Given the description of an element on the screen output the (x, y) to click on. 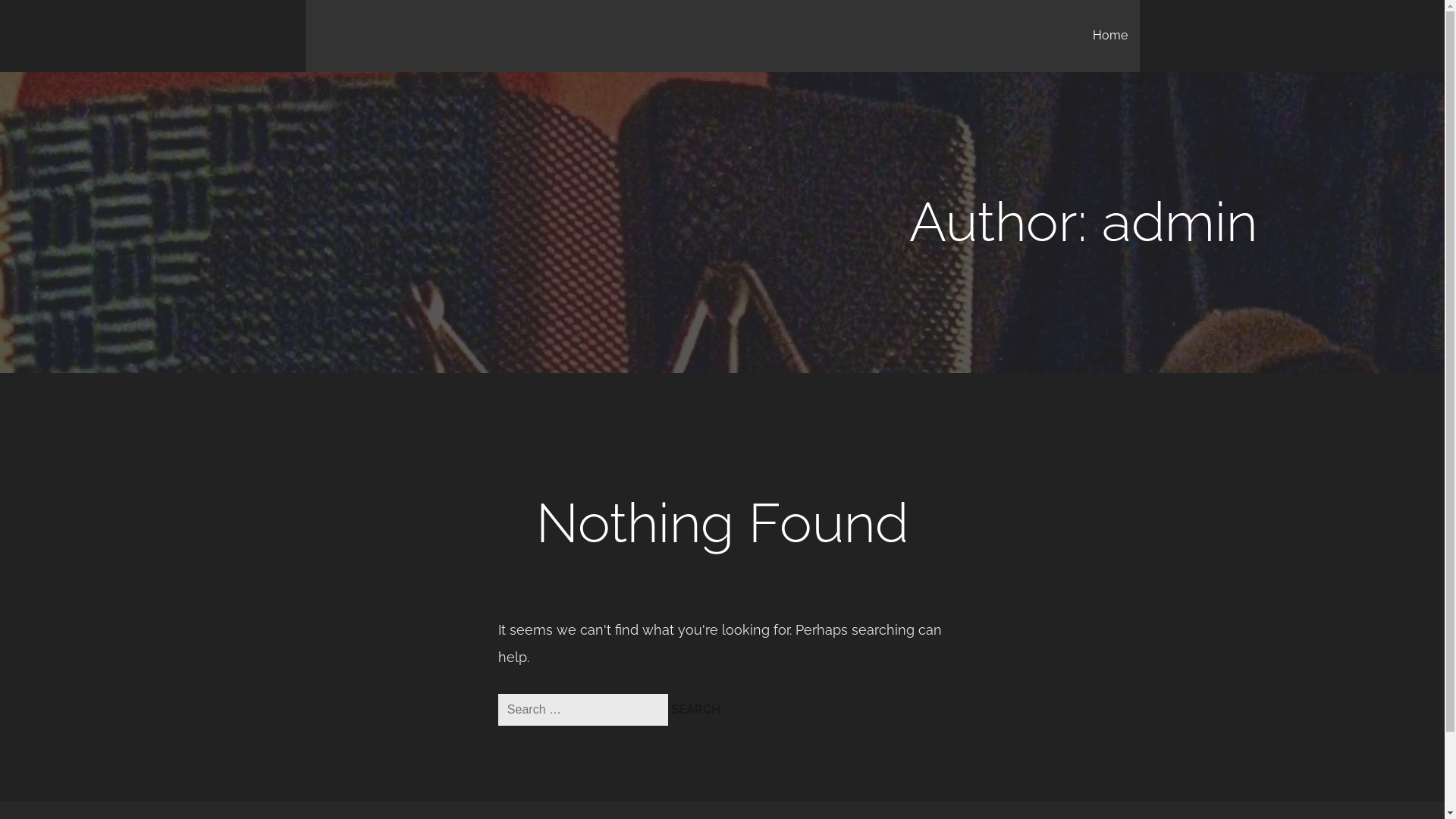
Home Element type: text (1109, 36)
Search Element type: text (695, 709)
2 TON SOUND Element type: text (378, 25)
